Given the description of an element on the screen output the (x, y) to click on. 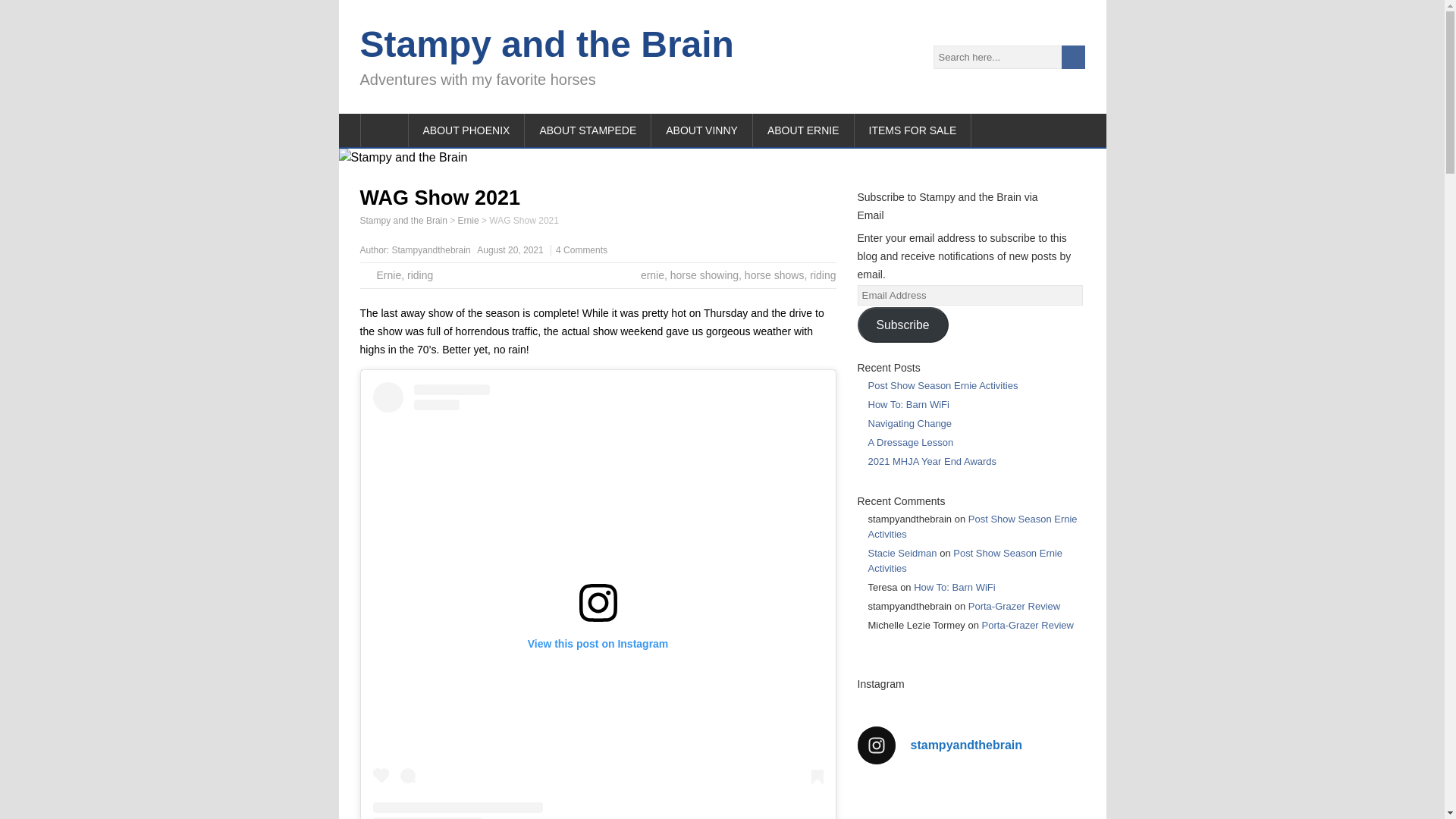
Ernie (388, 275)
riding (419, 275)
Go to Stampy and the Brain. (402, 220)
ABOUT PHOENIX (465, 130)
horse shows (774, 275)
ABOUT ERNIE (803, 130)
ABOUT STAMPEDE (587, 130)
Stampy and the Brain (402, 220)
Go to the Ernie Category archives. (468, 220)
